Given the description of an element on the screen output the (x, y) to click on. 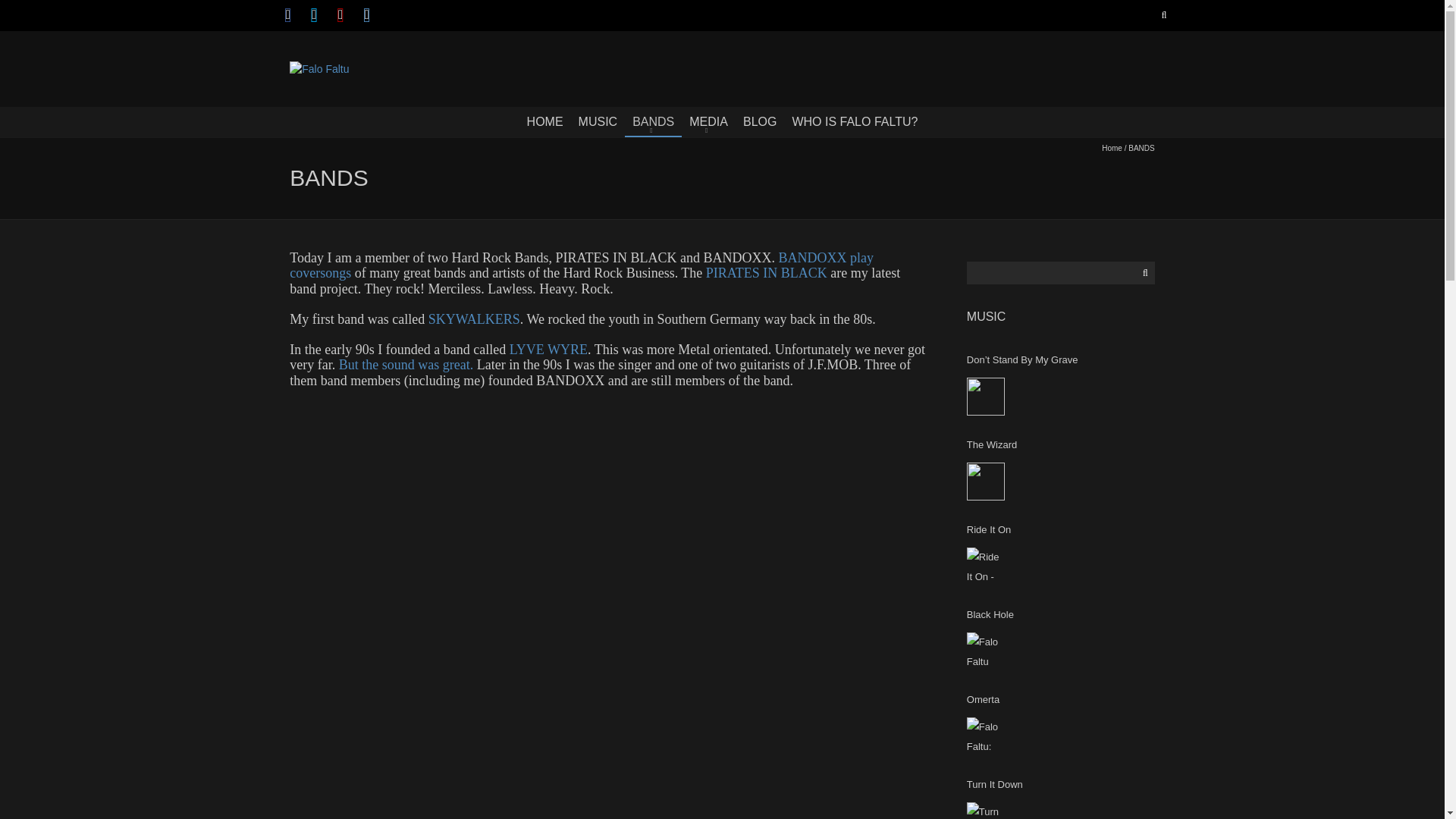
Ride It On (1060, 529)
SKYWALKERS (473, 319)
WHO IS FALO FALTU? (854, 121)
Ride It On (985, 566)
Black Hole (985, 651)
Suche (1143, 272)
Omerta (985, 736)
Suche (1162, 15)
Suche (1143, 272)
PIRATES IN BLACK (768, 272)
